Given the description of an element on the screen output the (x, y) to click on. 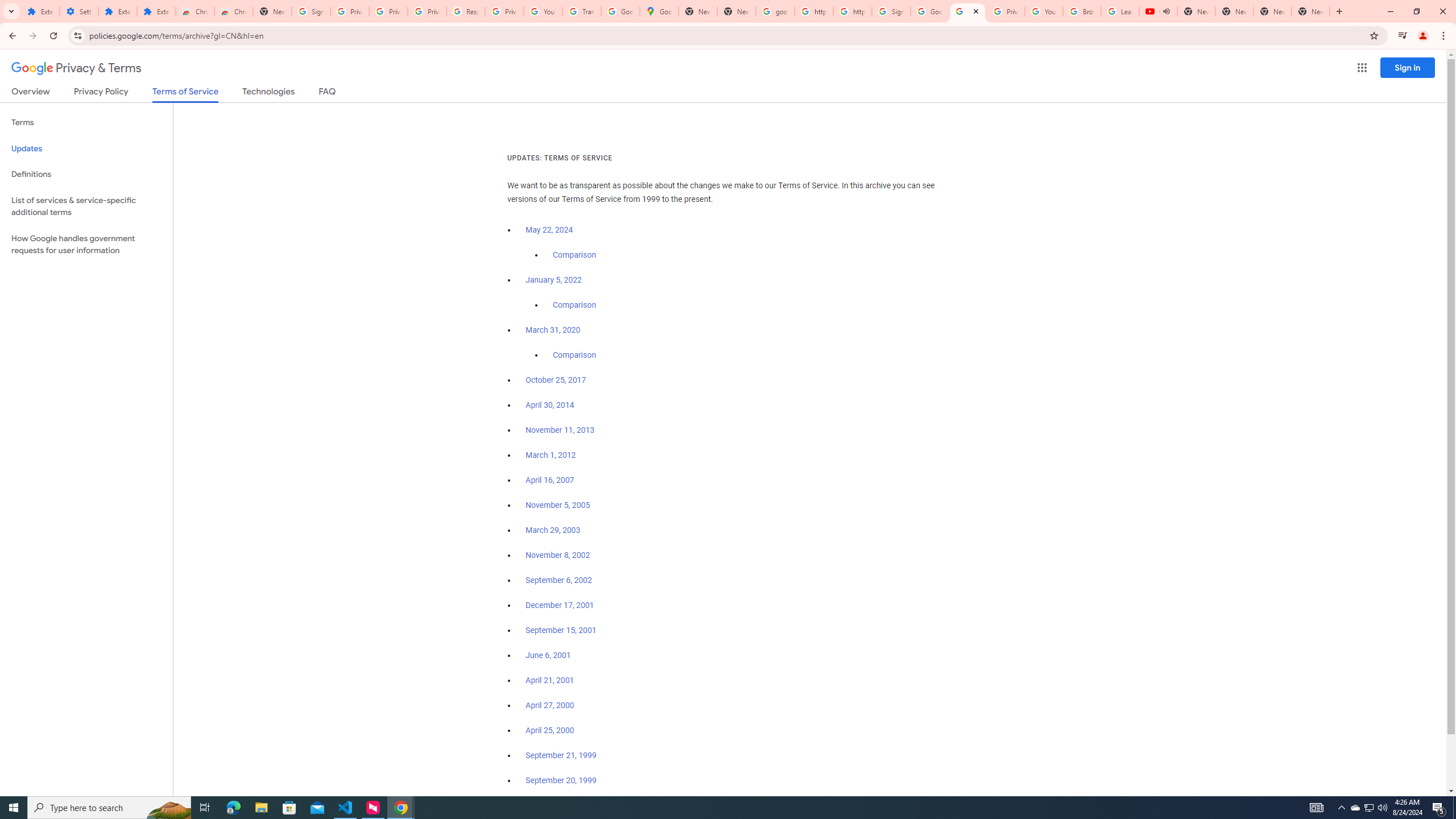
Close (976, 11)
Extensions (156, 11)
Technologies (268, 93)
New Tab (272, 11)
December 17, 2001 (559, 605)
New Tab (1338, 11)
Chrome Web Store (194, 11)
March 1, 2012 (550, 455)
Restore (1416, 11)
Overview (30, 93)
April 16, 2007 (550, 480)
September 15, 2001 (560, 629)
Sign in (1407, 67)
